Given the description of an element on the screen output the (x, y) to click on. 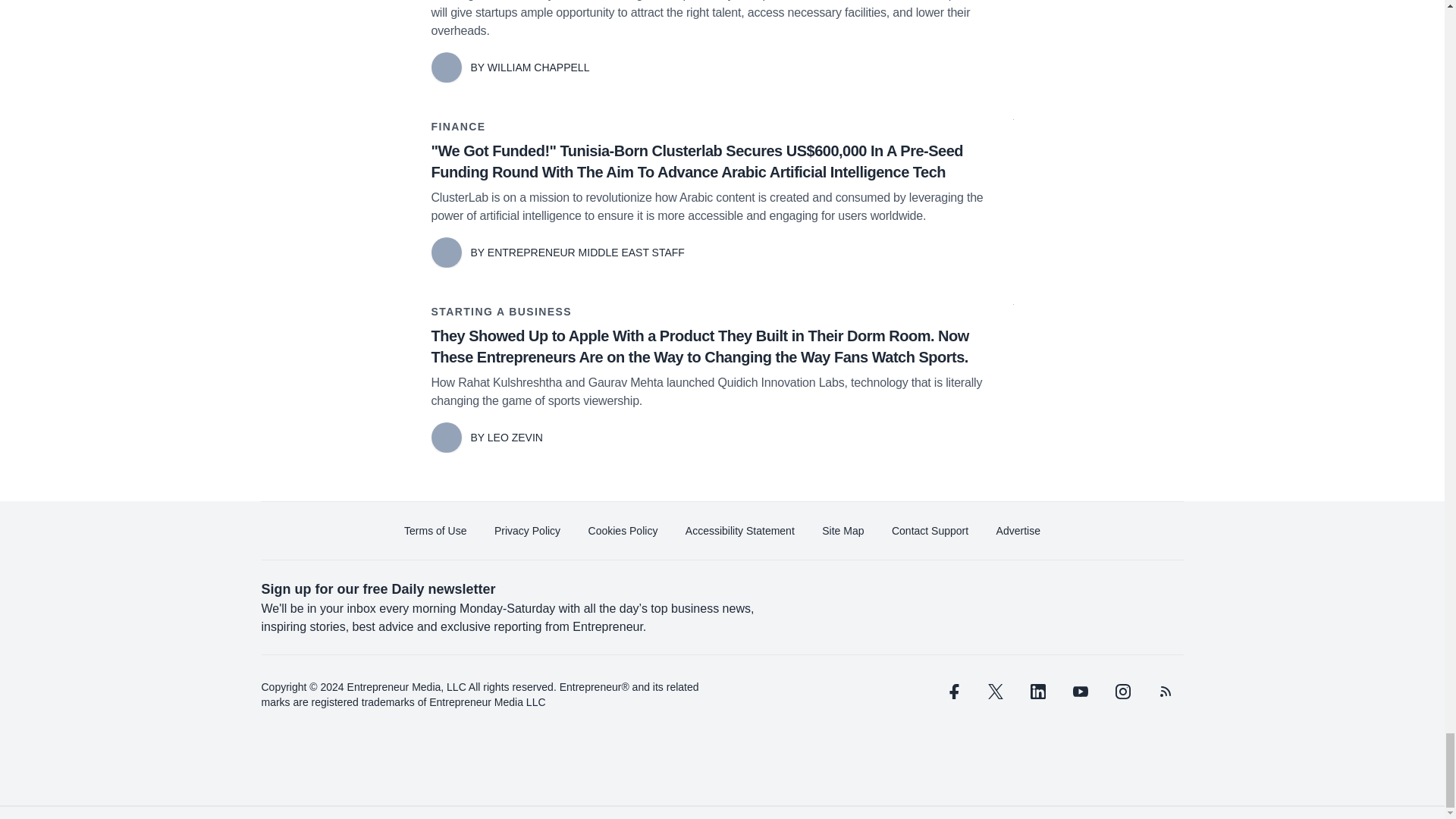
facebook (952, 691)
twitter (994, 691)
rss (1164, 691)
instagram (1121, 691)
linkedin (1037, 691)
youtube (1079, 691)
